Given the description of an element on the screen output the (x, y) to click on. 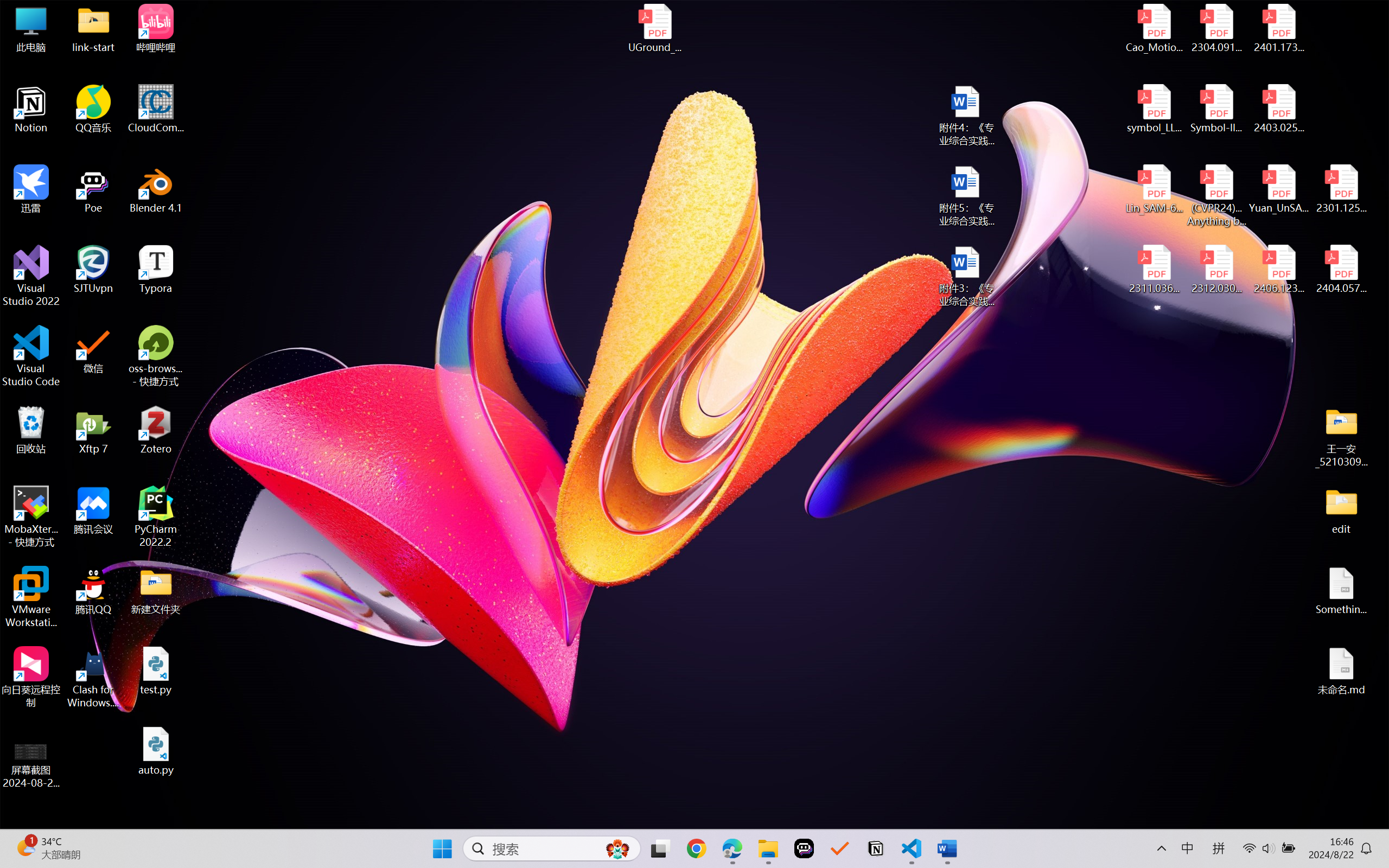
UGround_paper.pdf (654, 28)
test.py (156, 670)
